Given the description of an element on the screen output the (x, y) to click on. 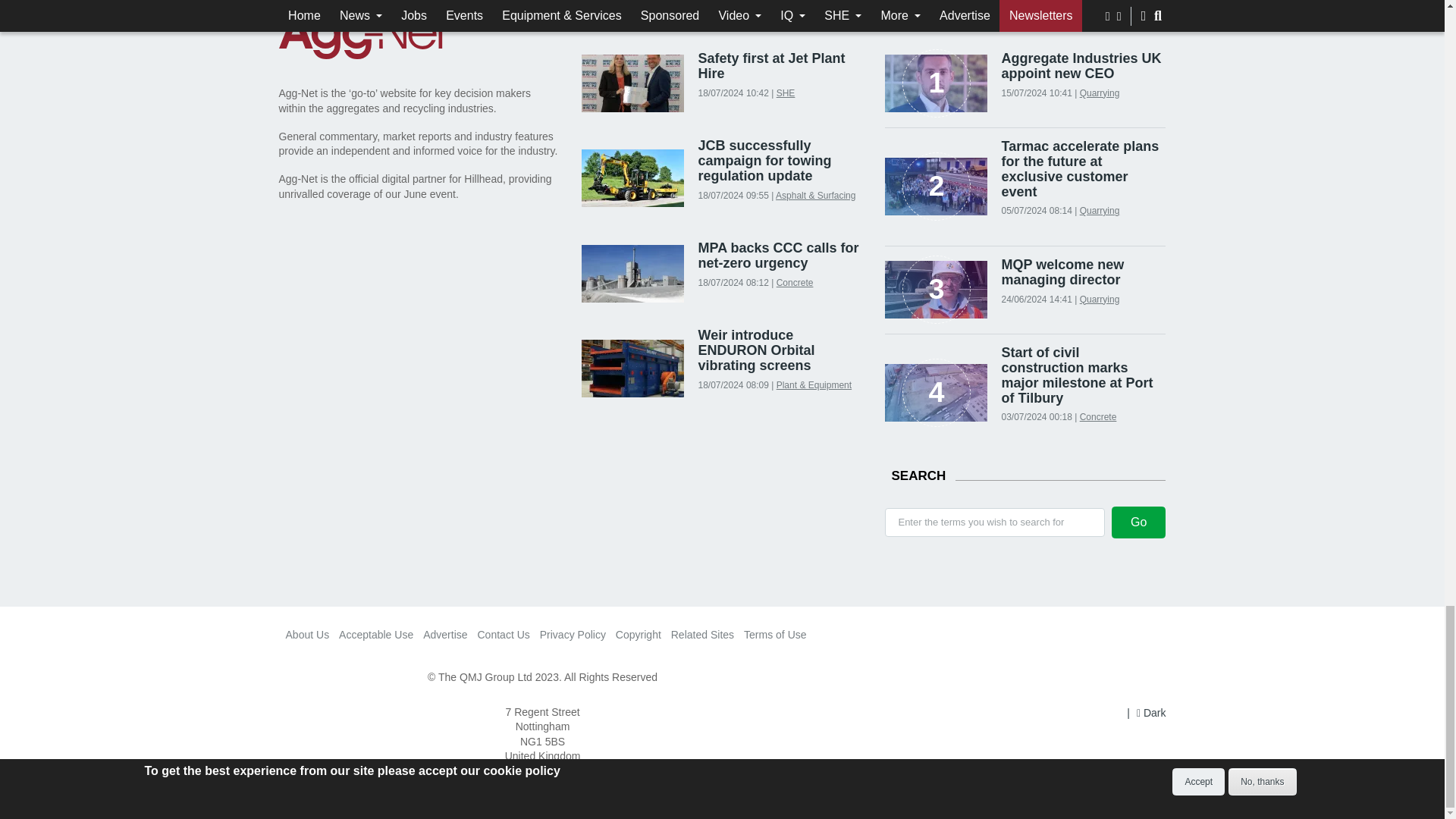
Go (1139, 522)
